Given the description of an element on the screen output the (x, y) to click on. 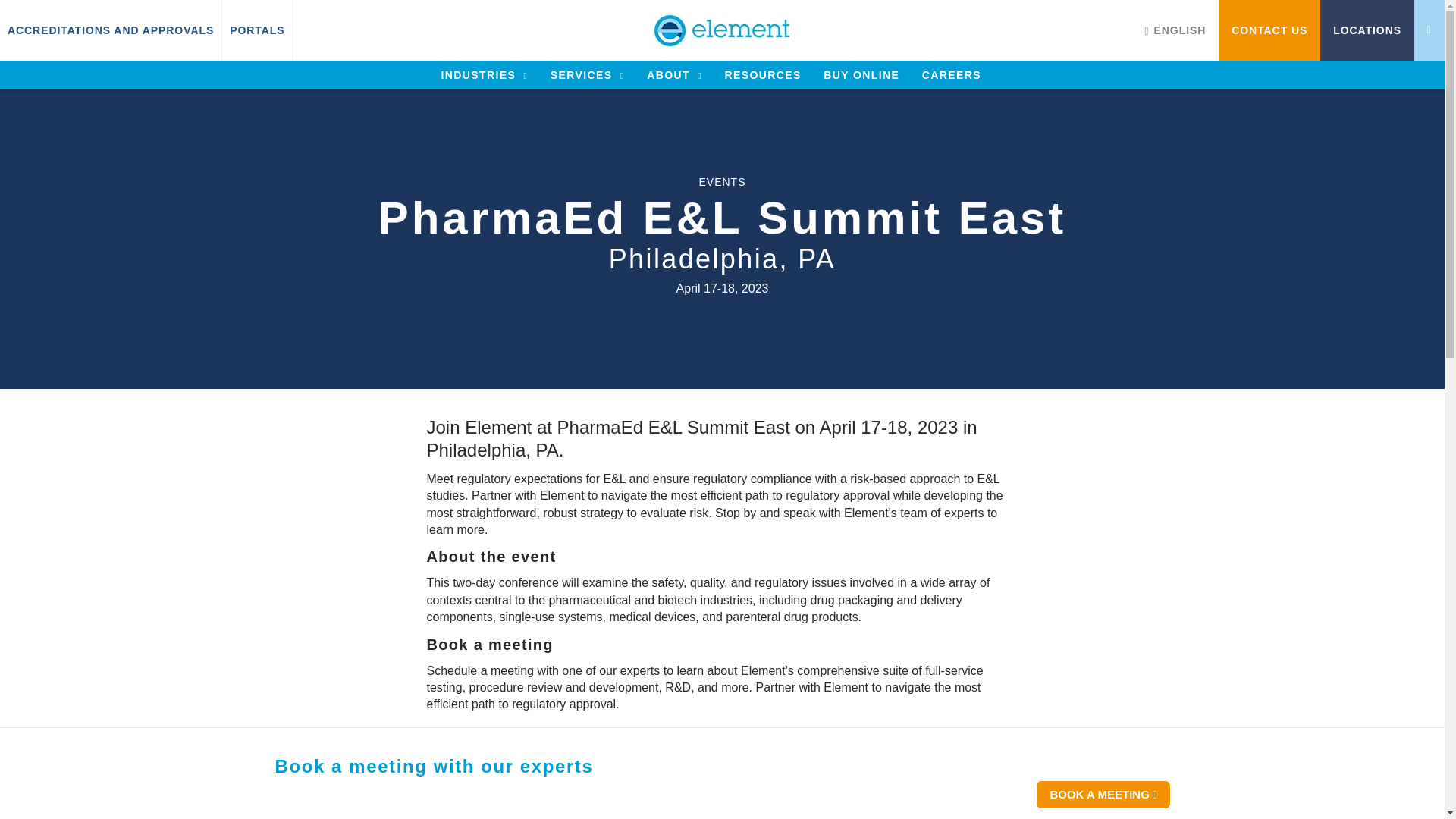
BUY ONLINE (861, 74)
INDUSTRIES (484, 74)
LOCATIONS (1366, 30)
CONTACT US (1269, 30)
PORTALS (256, 30)
SERVICES (587, 74)
ACCREDITATIONS AND APPROVALS (110, 30)
ENGLISH (1174, 30)
ABOUT (673, 74)
Element (722, 29)
